Given the description of an element on the screen output the (x, y) to click on. 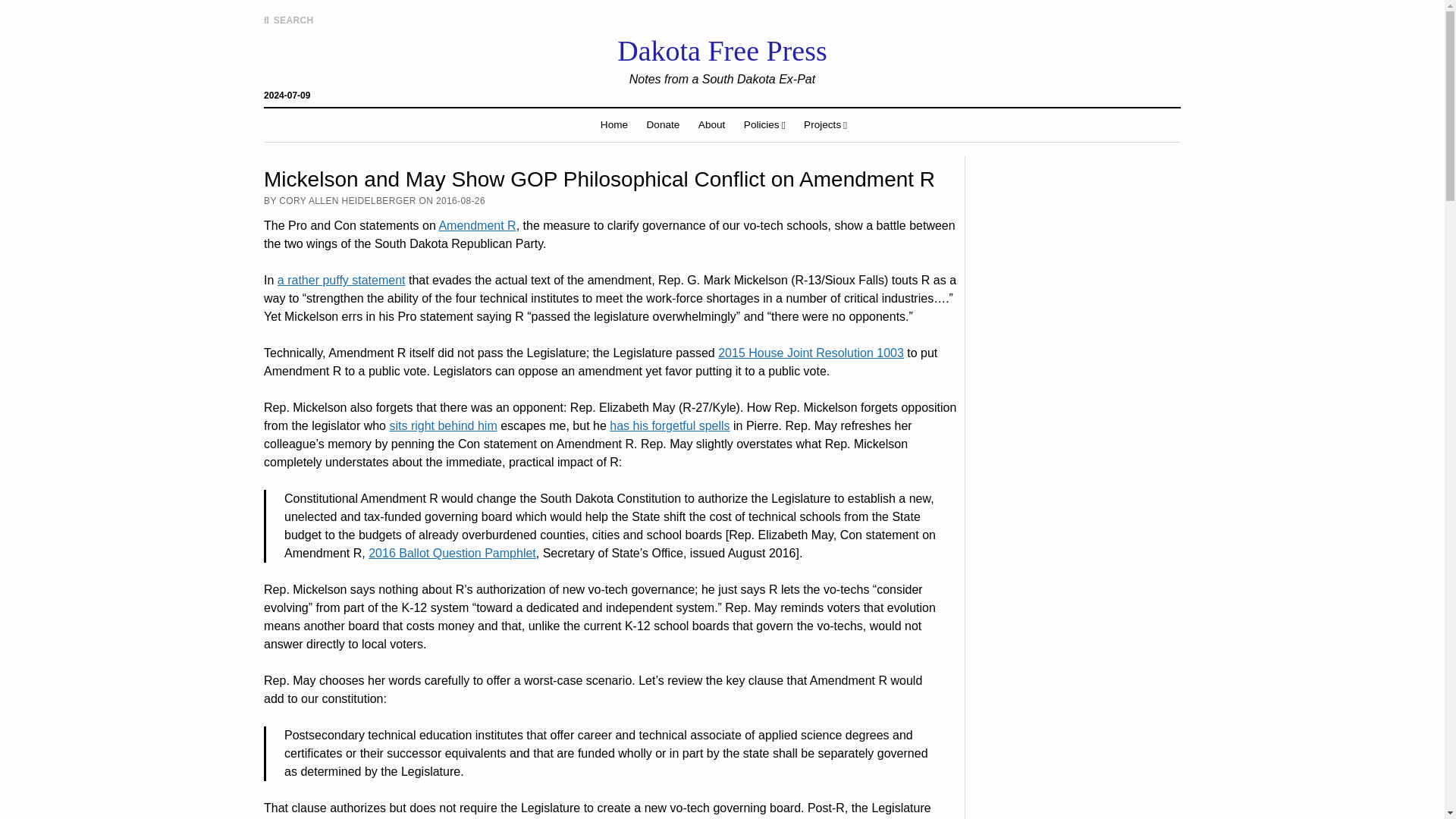
Dakota Free Press (722, 50)
About (711, 124)
Projects (825, 124)
a rather puffy statement (342, 279)
Amendment R (476, 225)
Donate (662, 124)
Policies (764, 124)
Home (614, 124)
Search (946, 129)
SEARCH (288, 20)
